Given the description of an element on the screen output the (x, y) to click on. 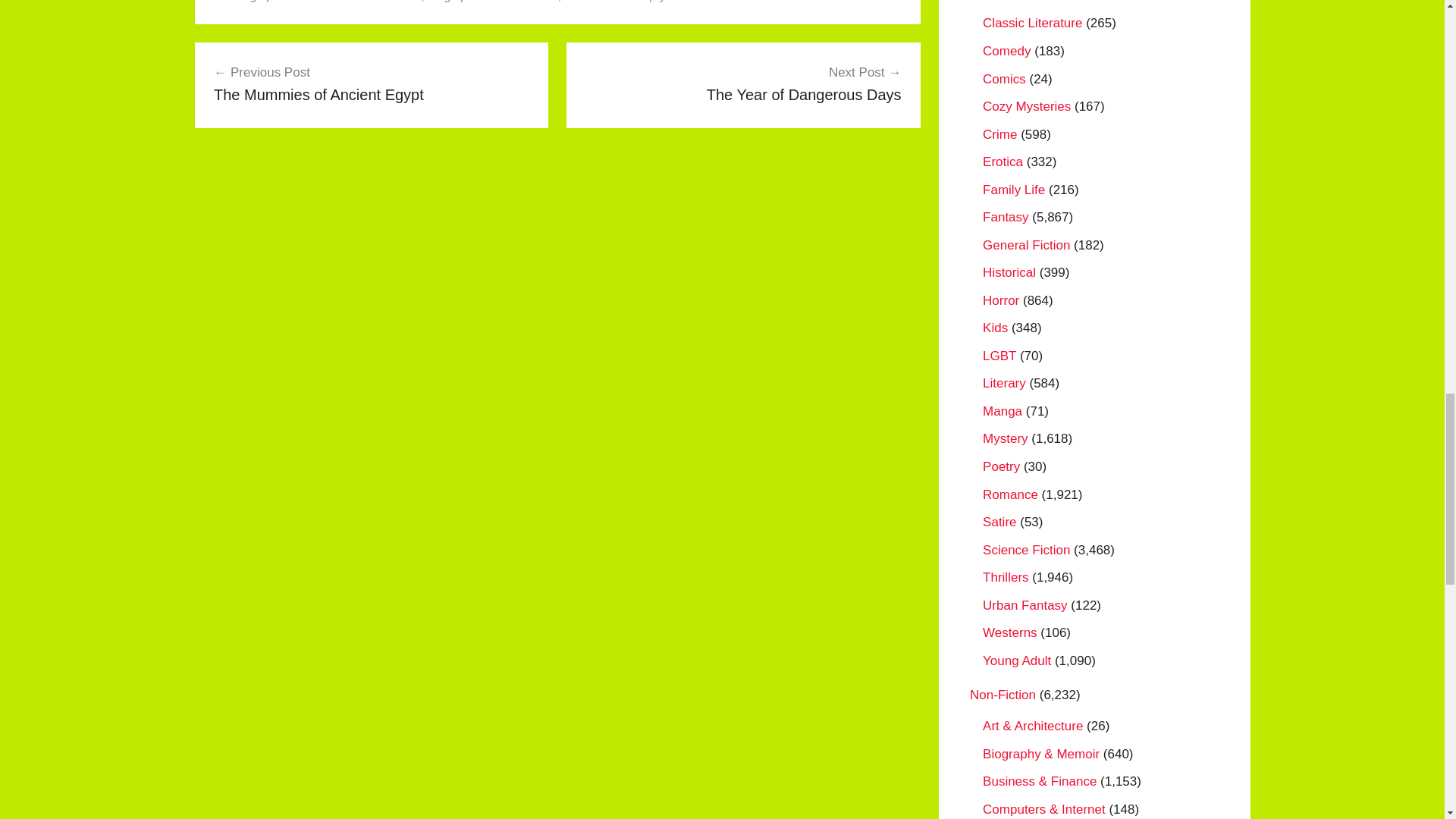
Meditation Therapry (614, 1)
Biographies of Journalists (492, 1)
